Given the description of an element on the screen output the (x, y) to click on. 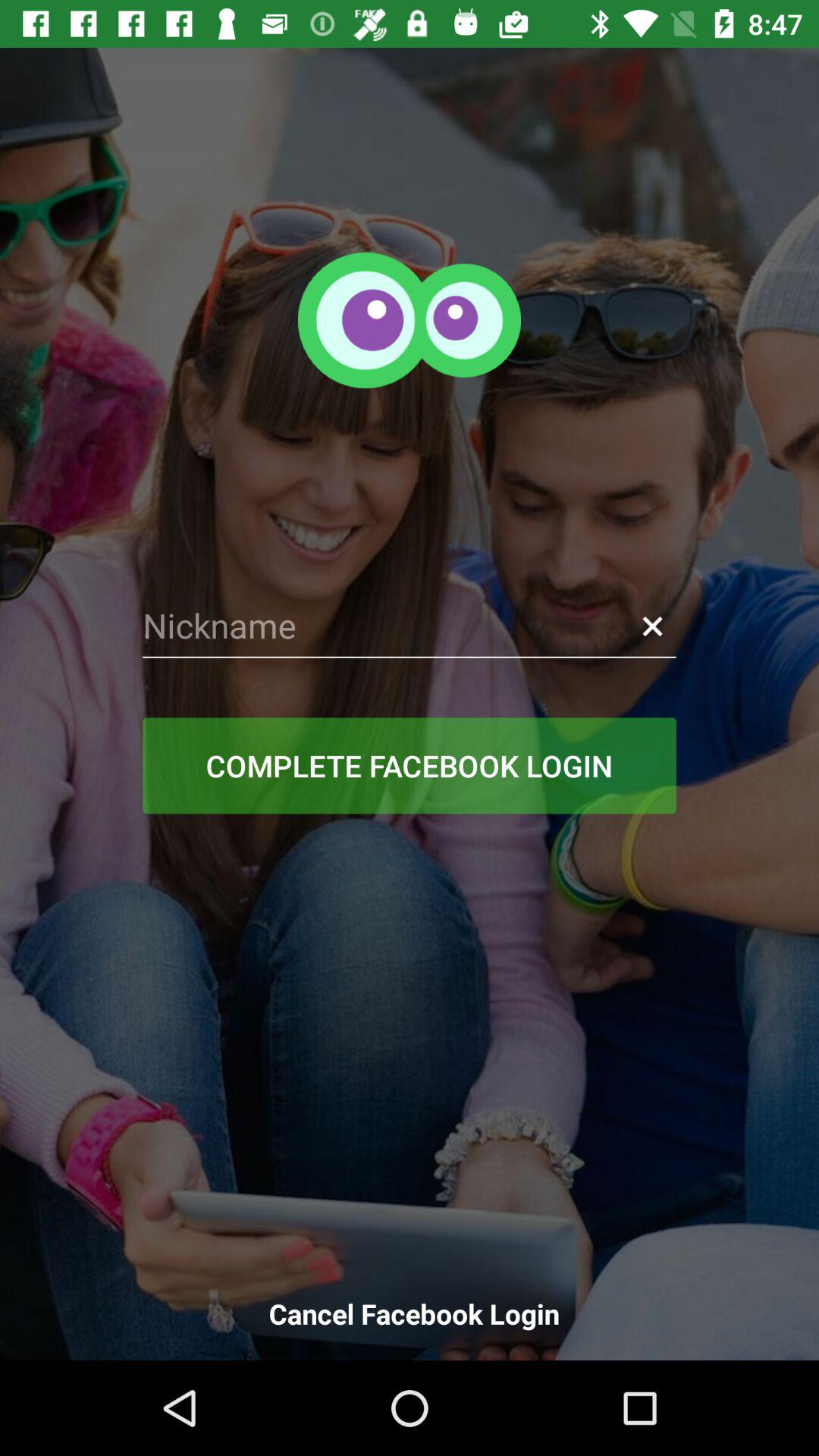
turn on item above the complete facebook login (652, 626)
